Given the description of an element on the screen output the (x, y) to click on. 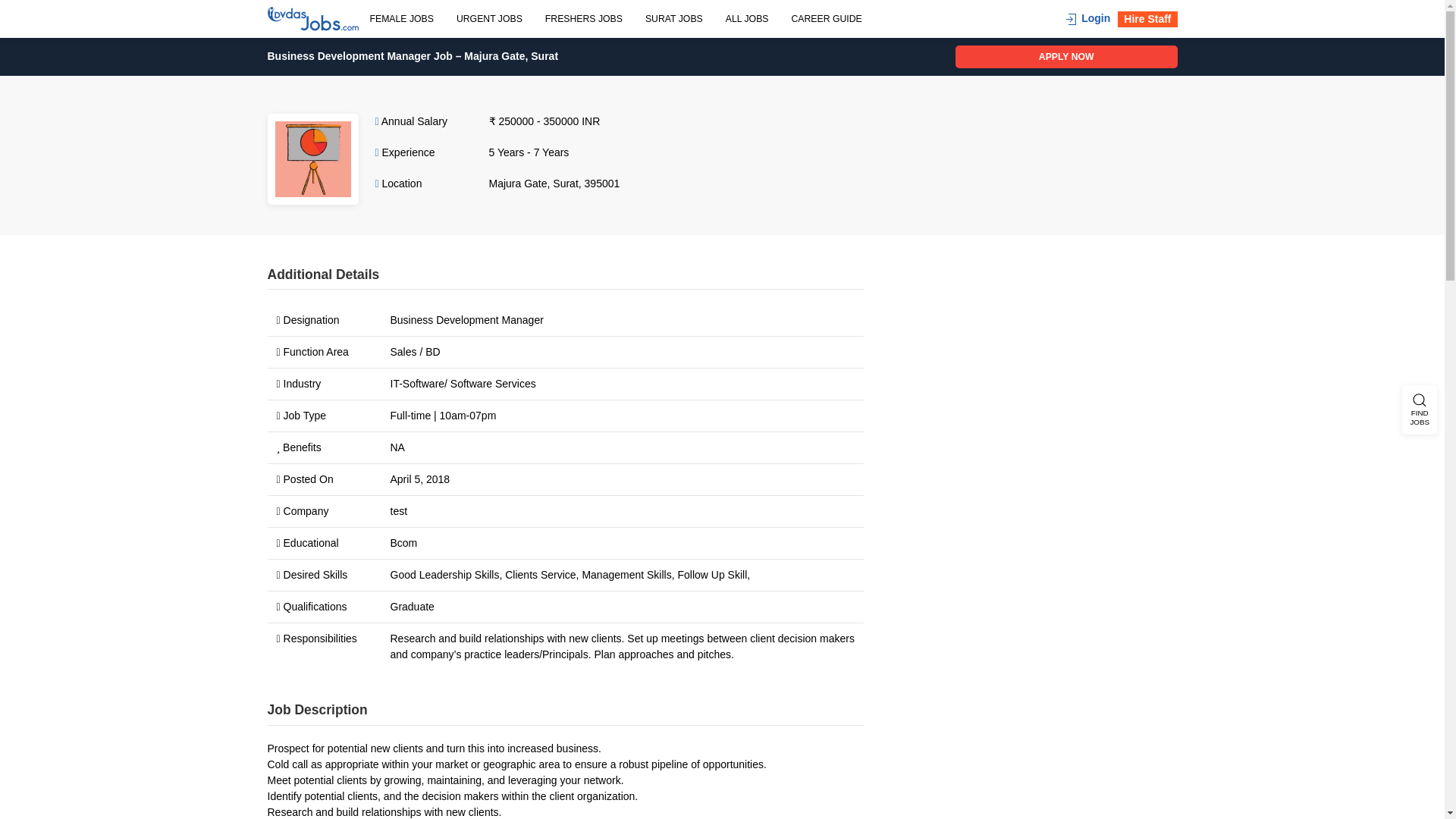
Hire Staff (1147, 18)
FRESHERS JOBS (583, 18)
CAREER GUIDE (825, 18)
SURAT JOBS (673, 18)
ALL JOBS (747, 18)
URGENT JOBS (489, 18)
FEMALE JOBS (401, 18)
Login (1085, 18)
